Given the description of an element on the screen output the (x, y) to click on. 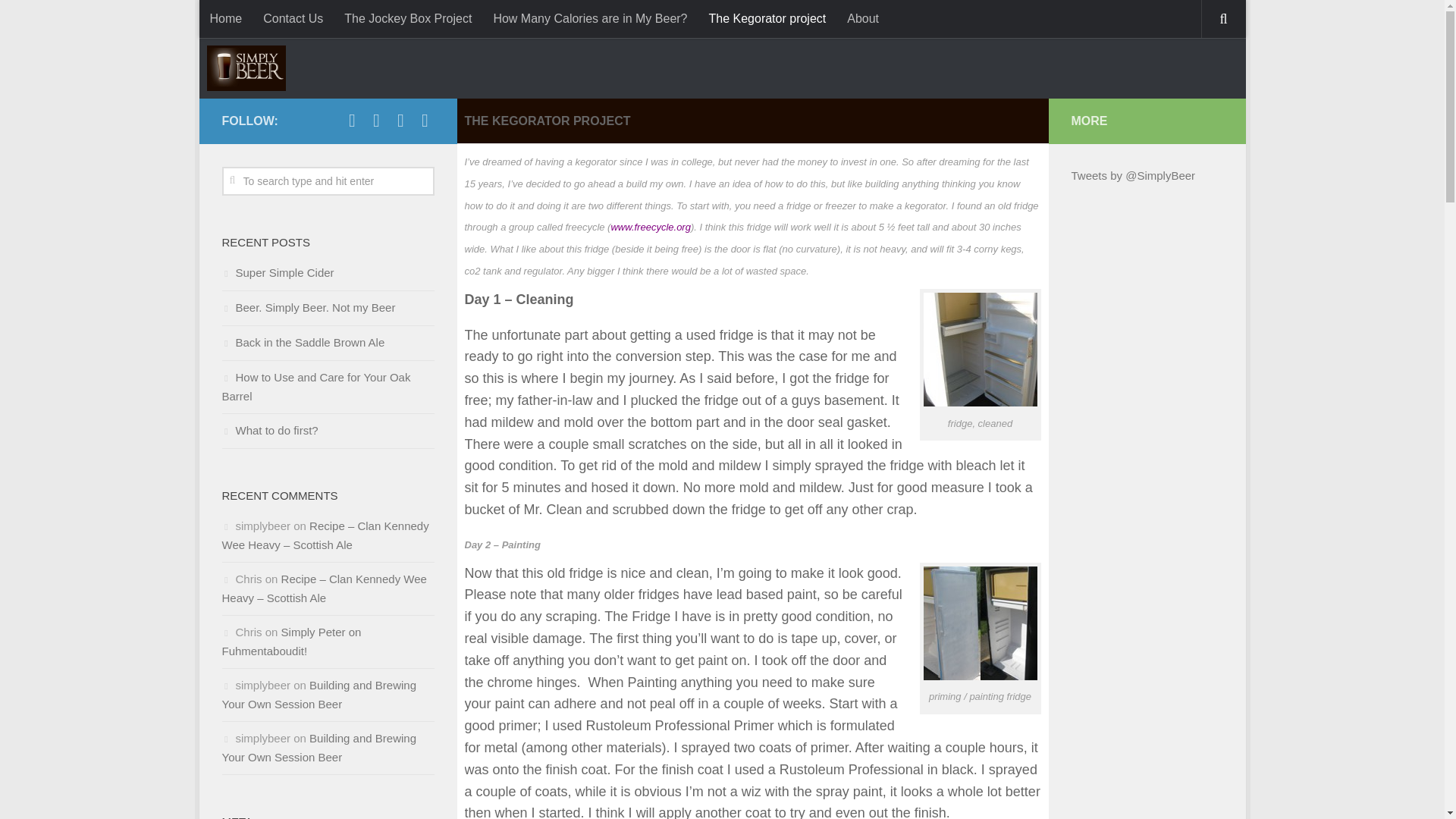
Follow us on Pinterest (400, 120)
fridgepainting (979, 623)
About (862, 18)
Follow us on Twitter (375, 120)
How Many Calories are in My Beer? (589, 18)
Follow us on Instagram (423, 120)
fridge (979, 349)
Beer. Simply Beer. Not my Beer (307, 307)
Contact Us (292, 18)
Follow us on Facebook (351, 120)
Home (224, 18)
Super Simple Cider (277, 272)
The Kegorator project (766, 18)
To search type and hit enter (327, 181)
www.freecycle.org (650, 226)
